Given the description of an element on the screen output the (x, y) to click on. 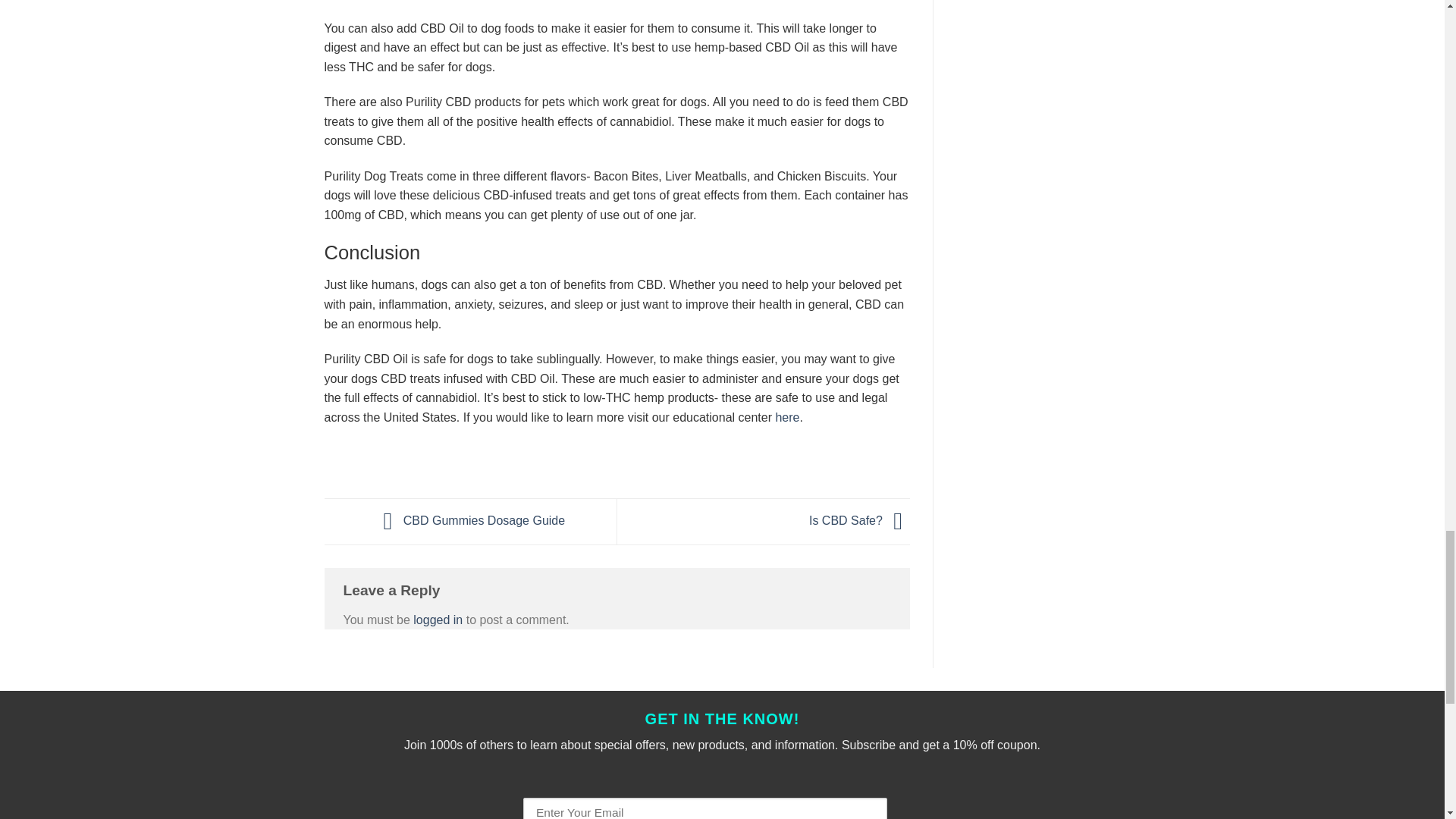
here (786, 417)
Is CBD Safe? (859, 520)
CBD Gummies Dosage Guide (470, 520)
logged in (438, 619)
